Given the description of an element on the screen output the (x, y) to click on. 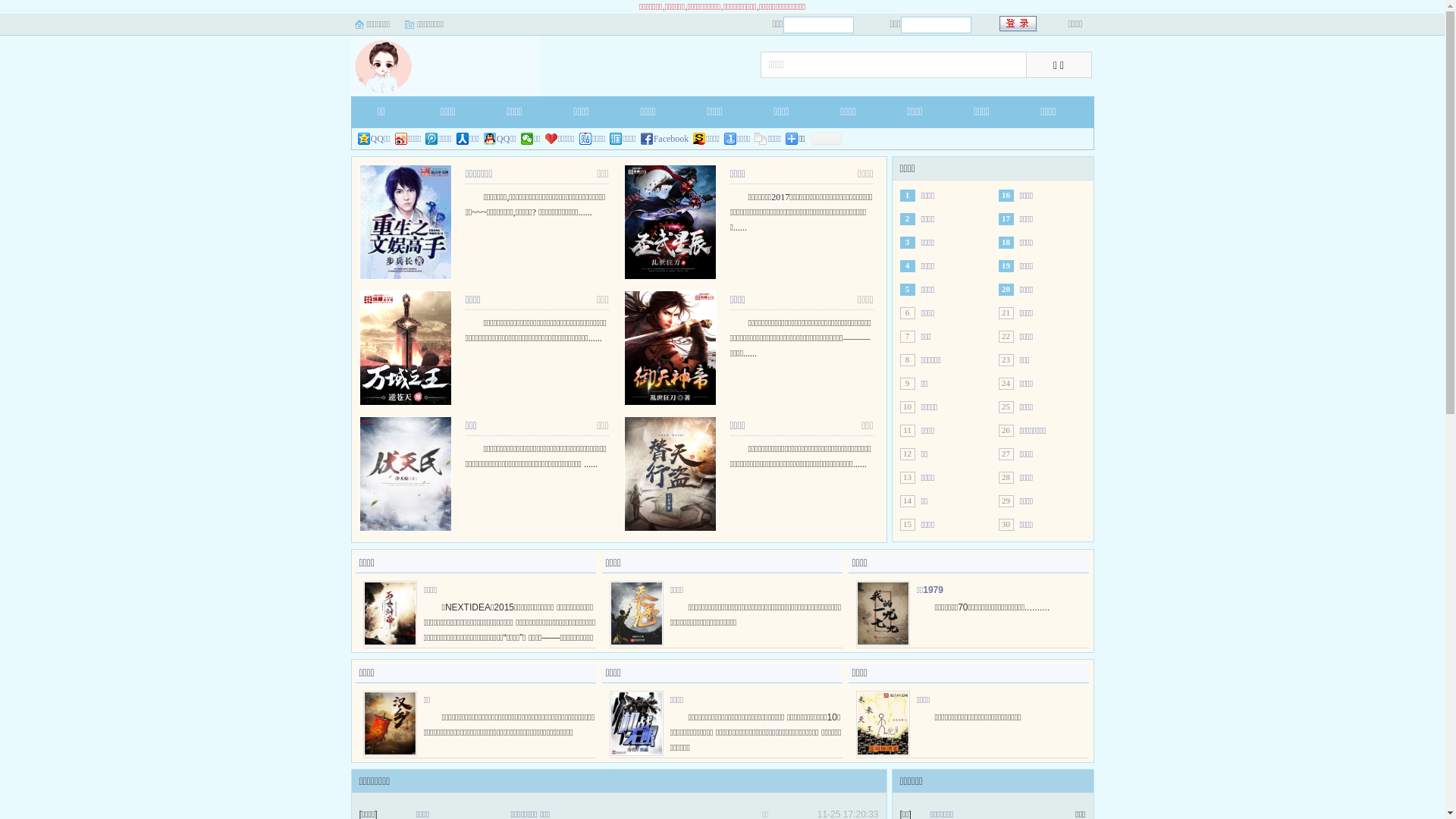
Facebook Element type: text (664, 138)
